Given the description of an element on the screen output the (x, y) to click on. 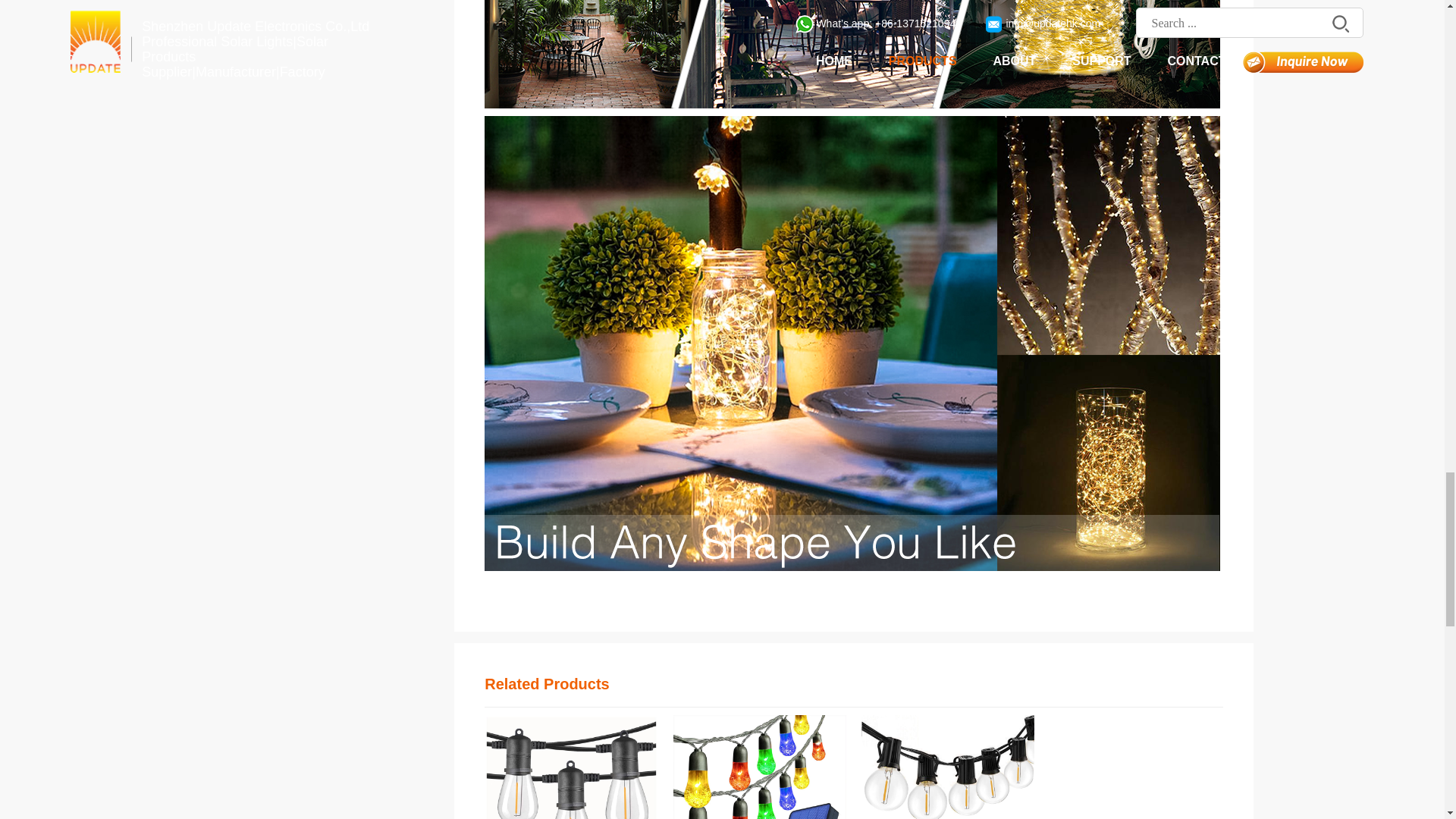
Shatterproof S14 Bulbs Holiday Party Solar String Lights (571, 766)
Shatterproof S14 Bulbs Holiday Party Solar String Lights (571, 766)
